Given the description of an element on the screen output the (x, y) to click on. 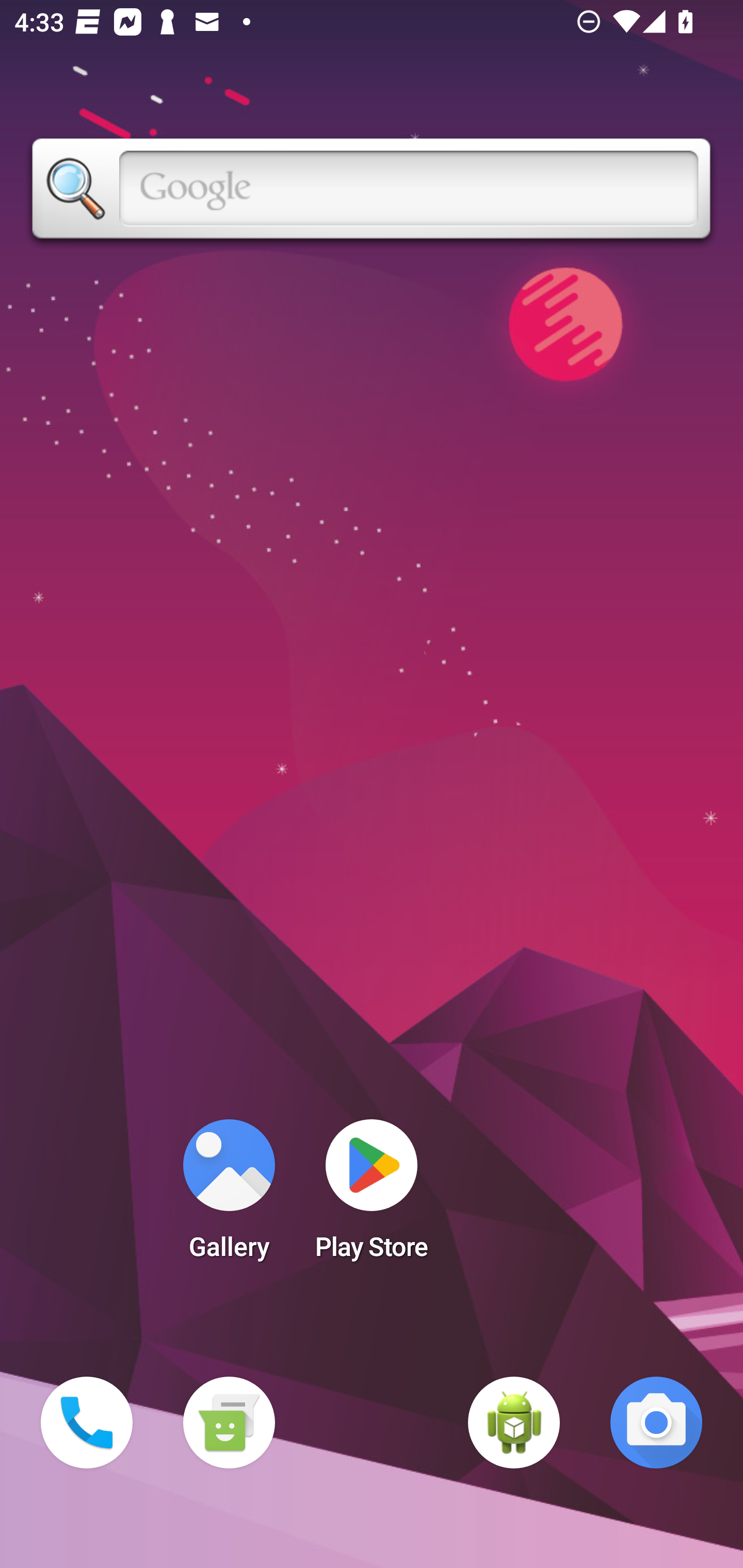
Gallery (228, 1195)
Play Store (371, 1195)
Phone (86, 1422)
Messaging (228, 1422)
WebView Browser Tester (513, 1422)
Camera (656, 1422)
